Given the description of an element on the screen output the (x, y) to click on. 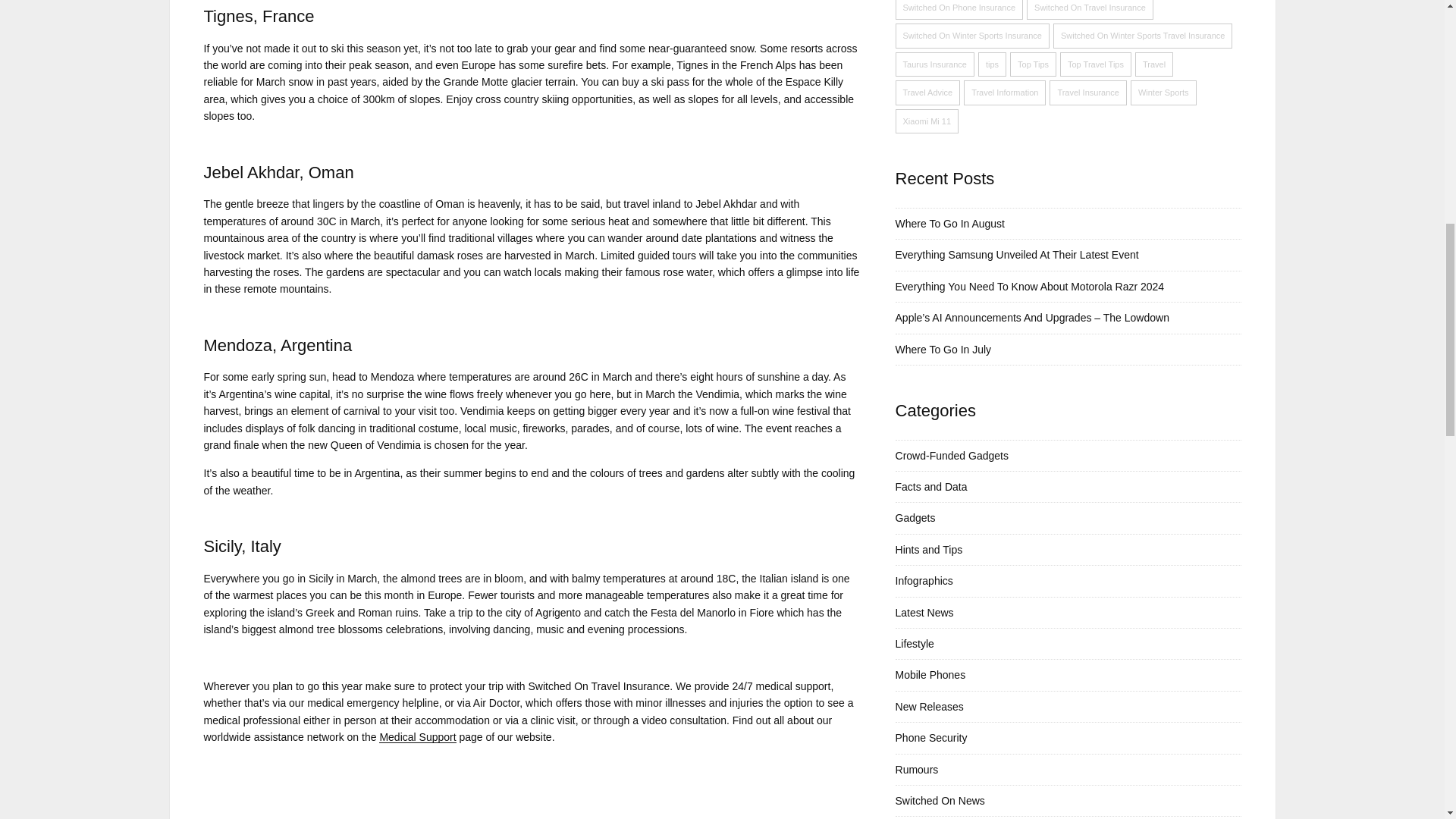
Medical Support (416, 736)
